Given the description of an element on the screen output the (x, y) to click on. 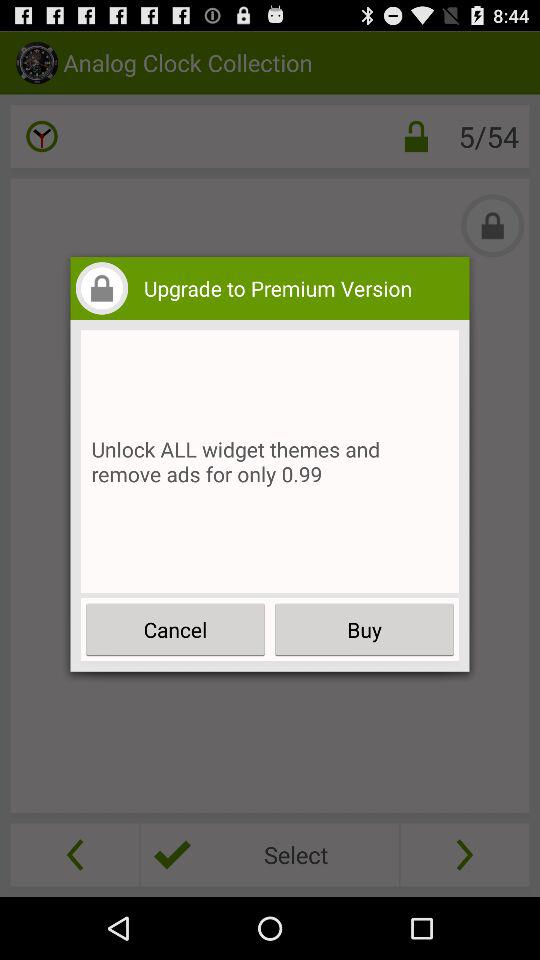
choose the buy button (364, 629)
